Given the description of an element on the screen output the (x, y) to click on. 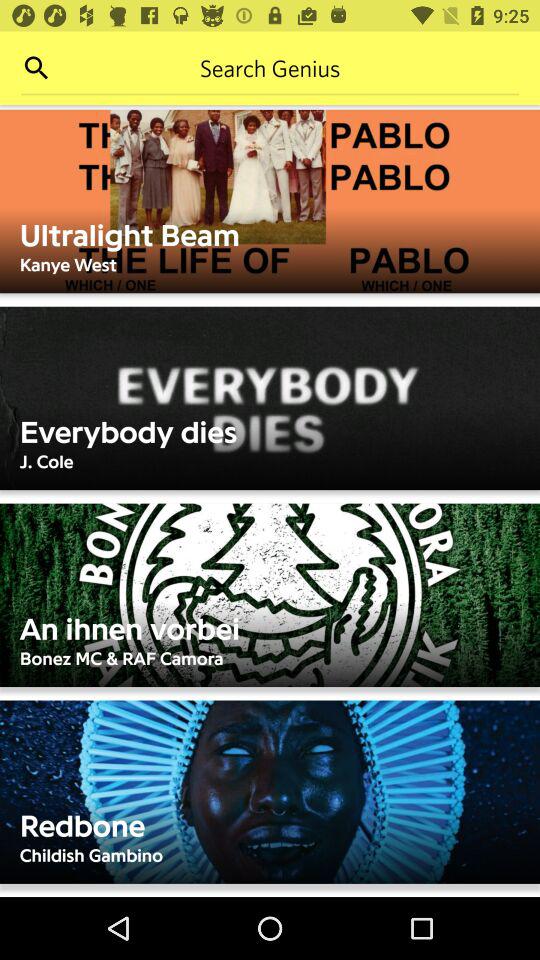
search bar (270, 67)
